Given the description of an element on the screen output the (x, y) to click on. 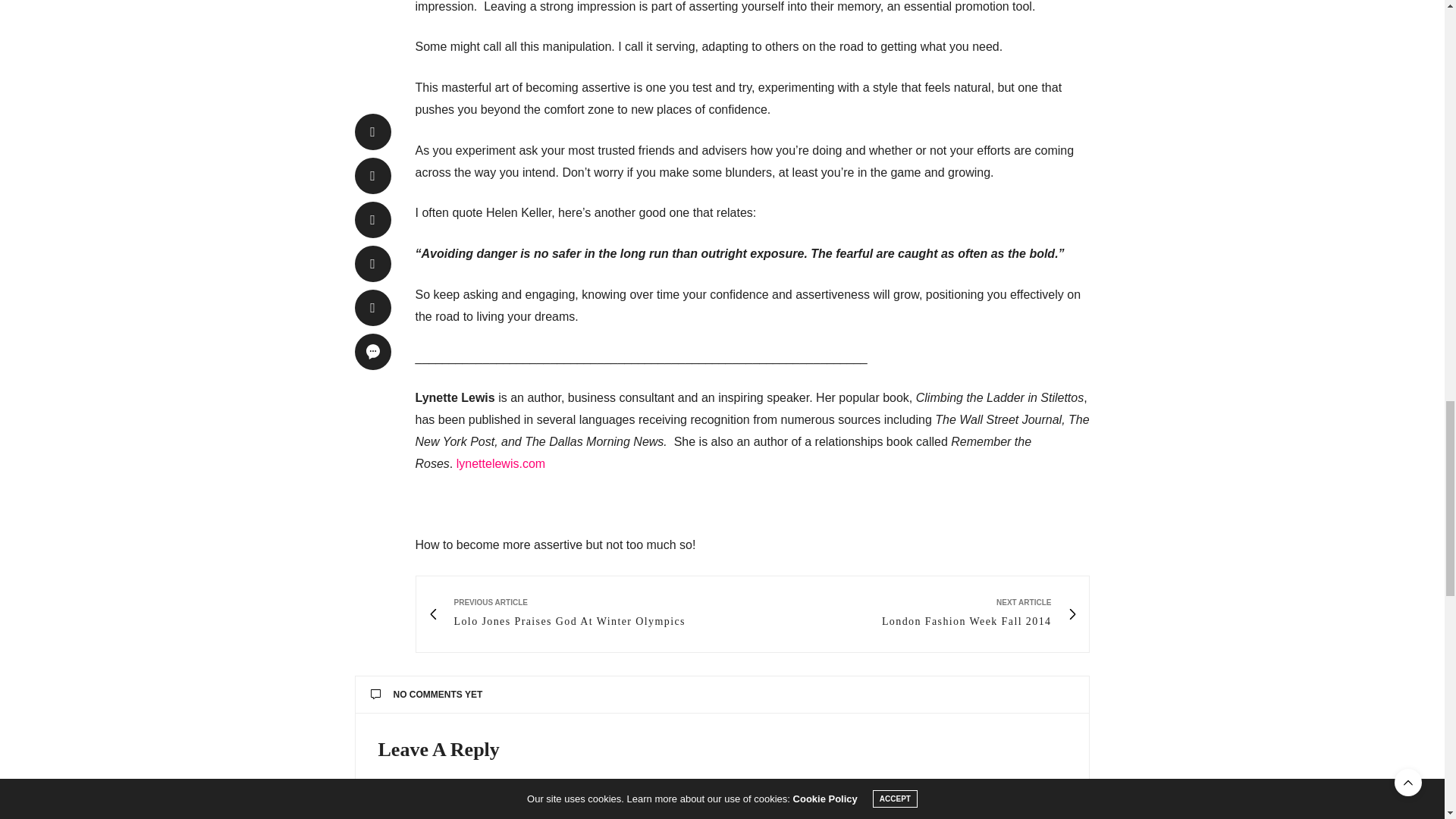
lynettelewis.com (500, 463)
NO COMMENTS YET (913, 613)
